Given the description of an element on the screen output the (x, y) to click on. 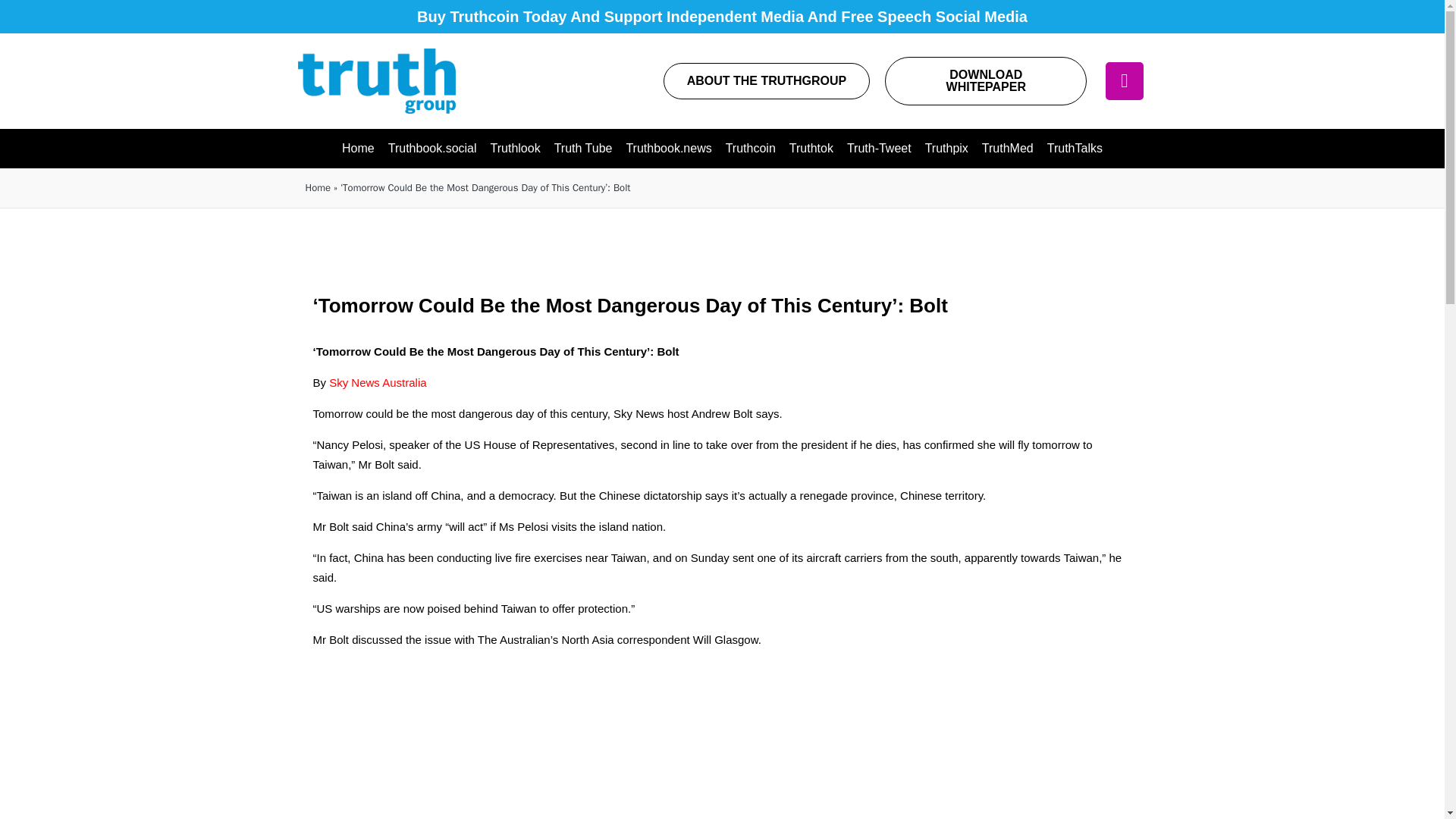
TruthTalks (1075, 148)
Truthcoin (751, 148)
Truthbook.social (432, 148)
Truthlook (515, 148)
Truth Tube (583, 148)
Home (317, 188)
Truth-Tweet (879, 148)
Truthbook.news (667, 148)
Home (357, 148)
